Given the description of an element on the screen output the (x, y) to click on. 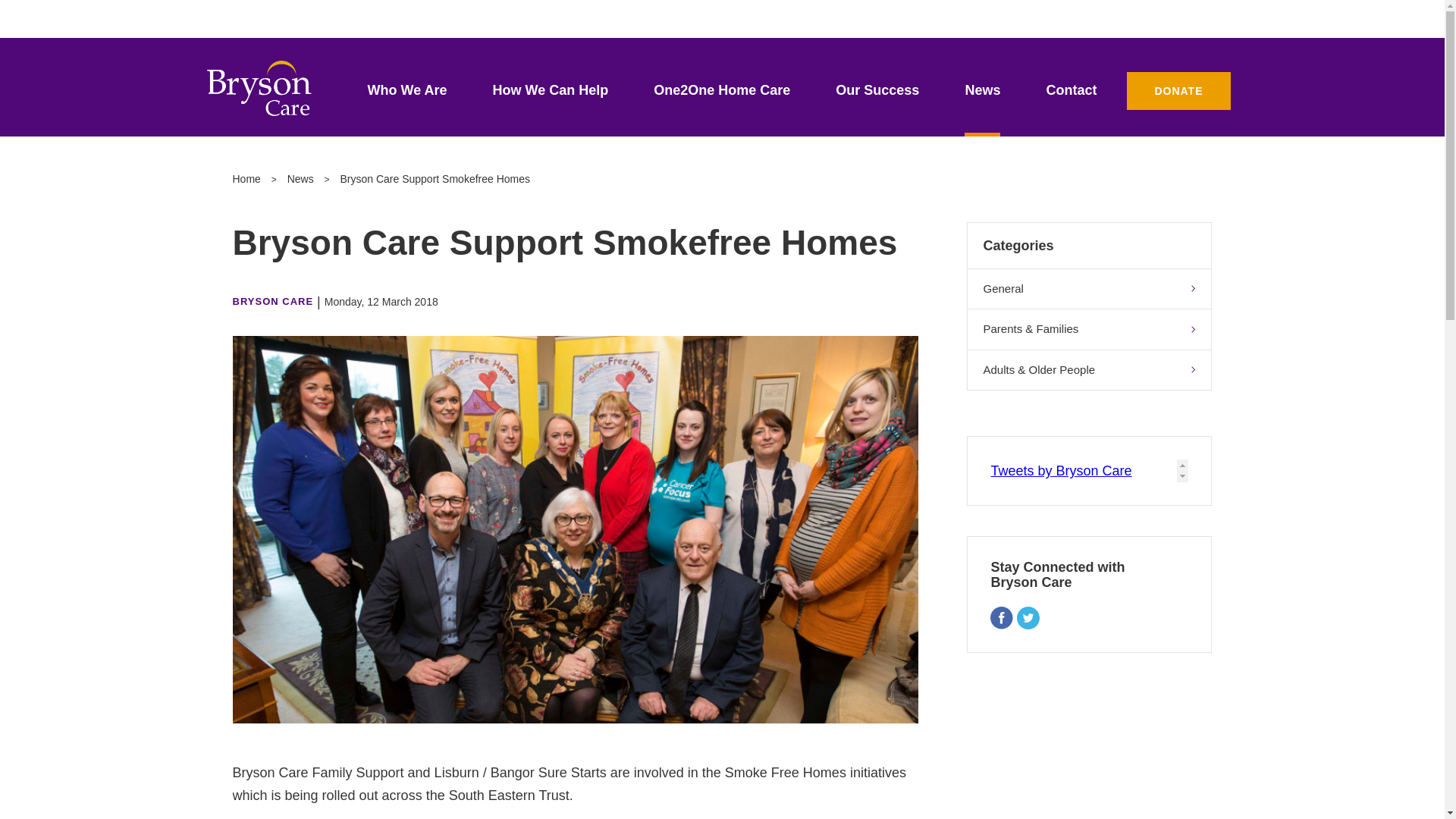
Bryson Care (258, 88)
Home (245, 178)
Our Success (876, 98)
How We Can Help (550, 98)
One2One Home Care (721, 98)
DONATE (1178, 90)
News (300, 178)
Who We Are (407, 98)
